Given the description of an element on the screen output the (x, y) to click on. 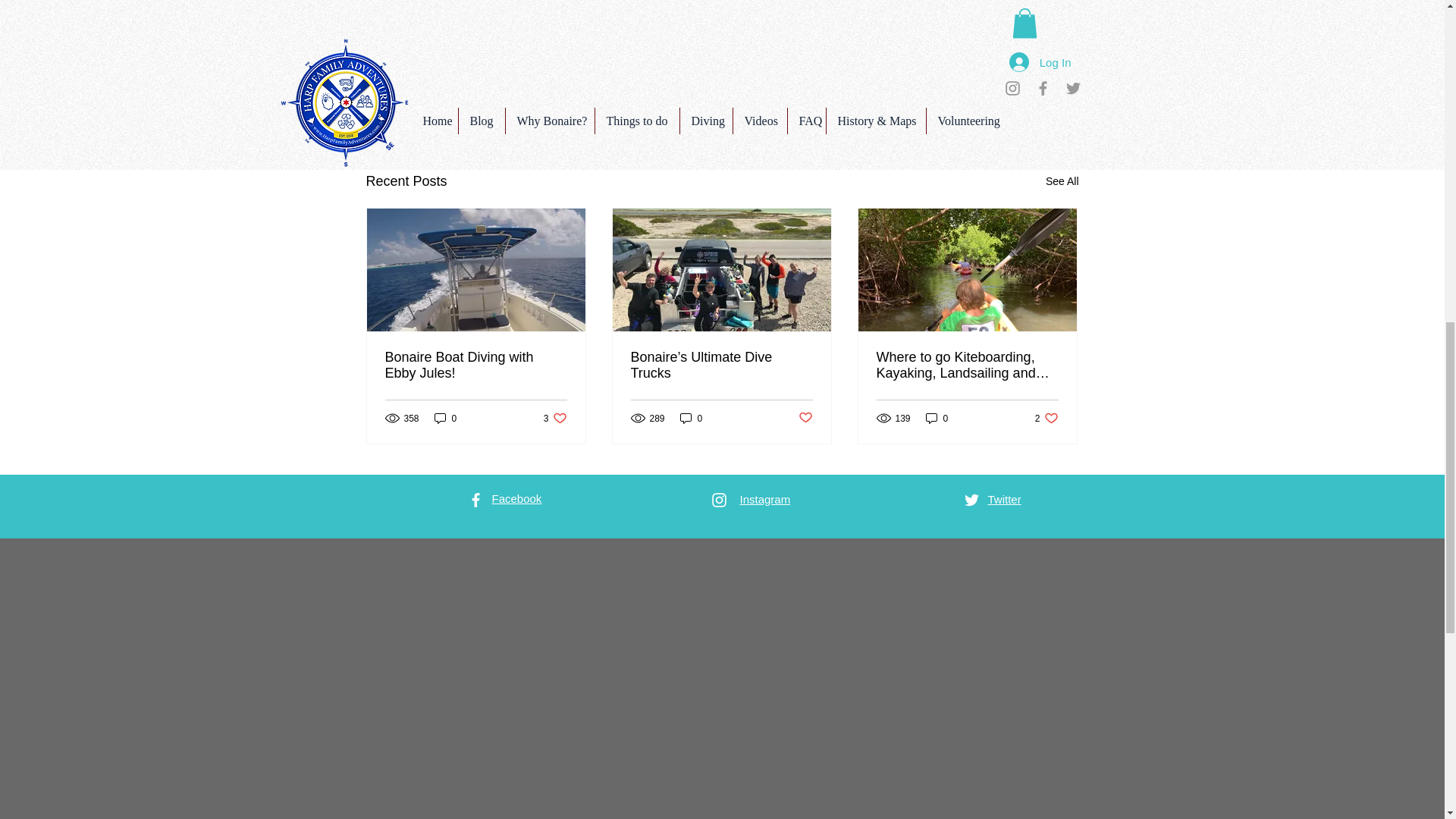
See All (1061, 181)
Bonaire Boat Diving with Ebby Jules! (476, 365)
0 (445, 418)
Post not marked as liked (995, 98)
Scuba (919, 52)
Marine Life (976, 52)
